Given the description of an element on the screen output the (x, y) to click on. 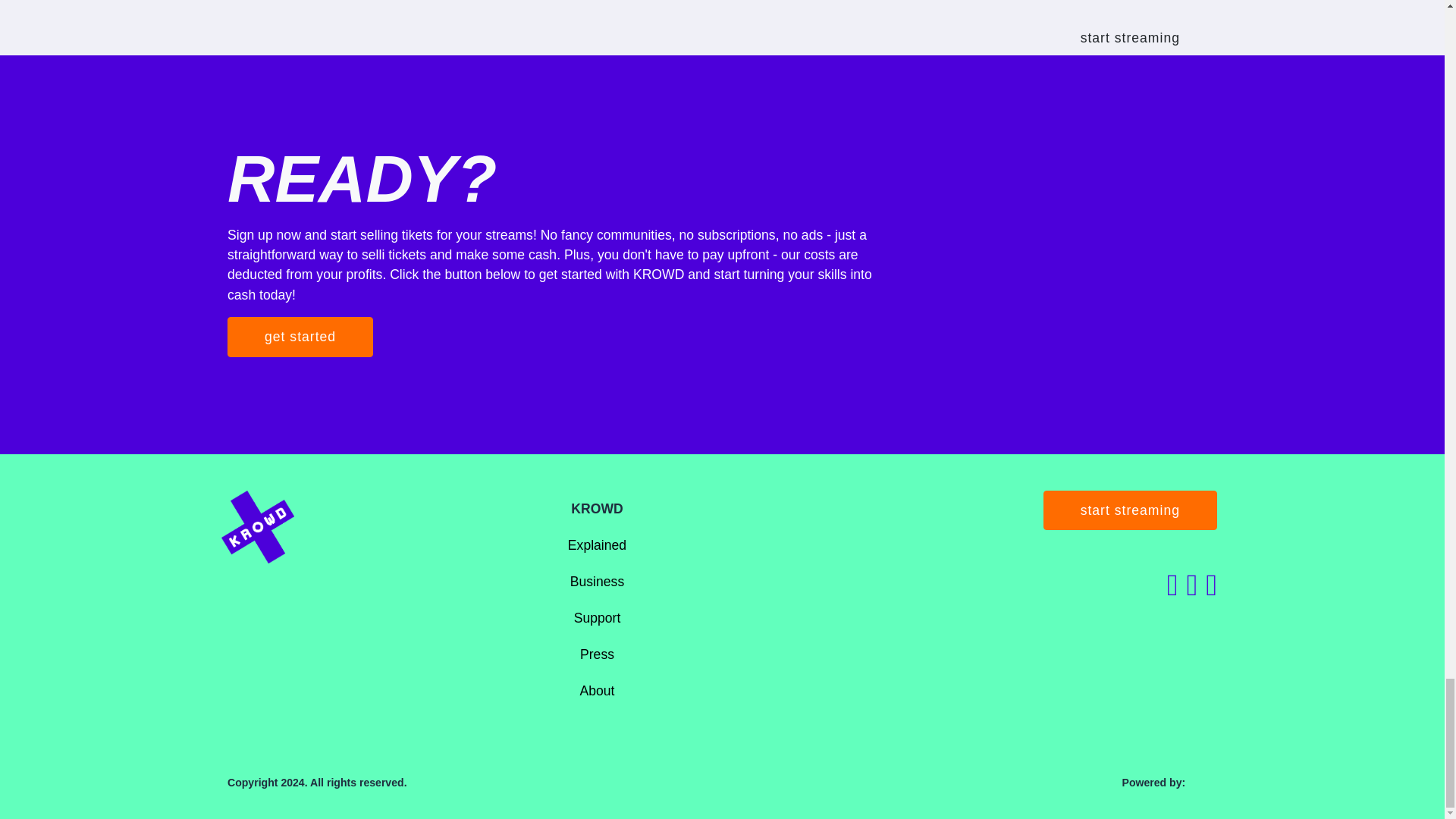
Support (597, 617)
get started (299, 336)
Explained (596, 544)
Press (596, 654)
About (596, 690)
Business (597, 581)
start streaming (1130, 509)
